Given the description of an element on the screen output the (x, y) to click on. 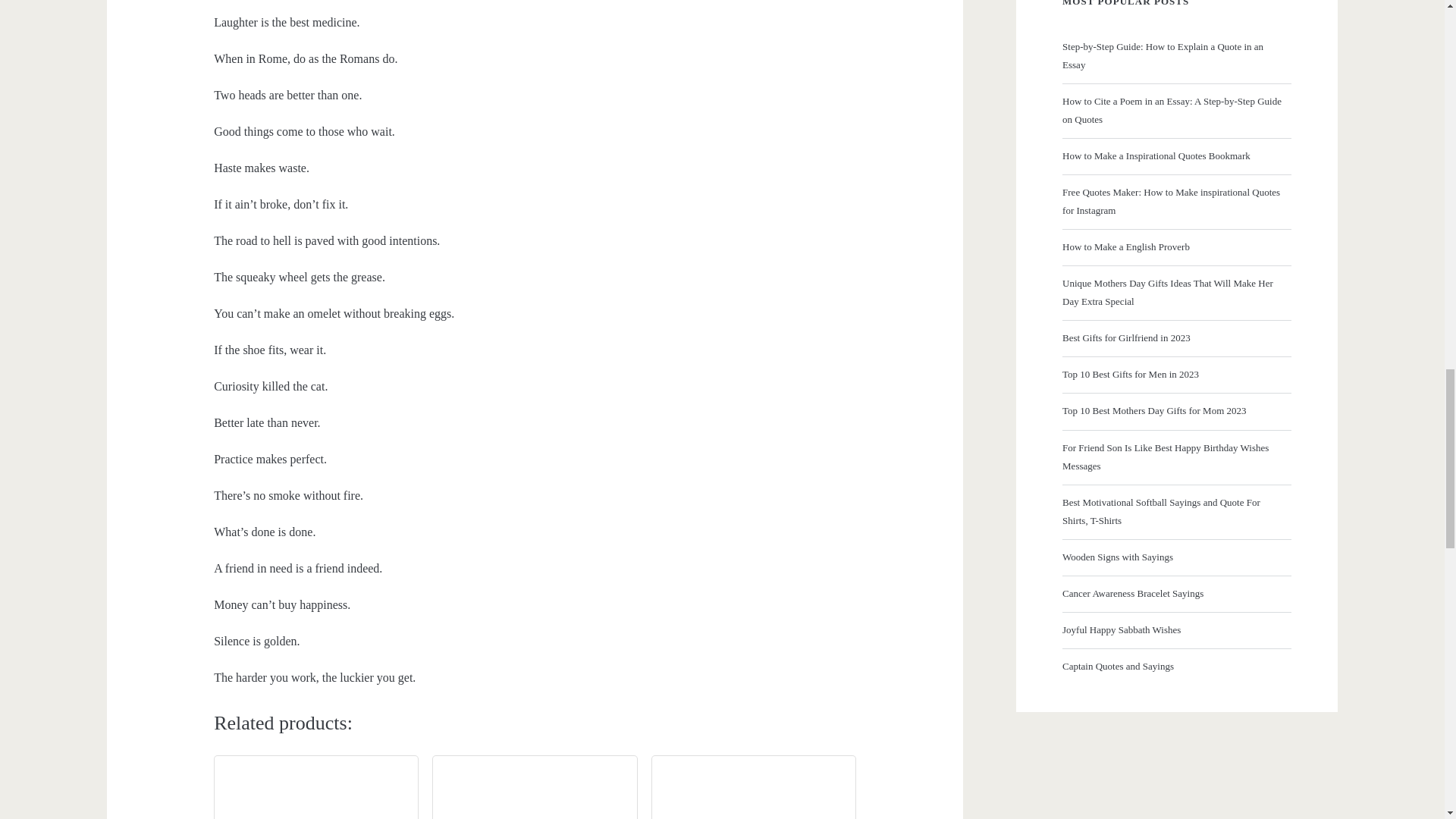
Book Club (534, 792)
